Given the description of an element on the screen output the (x, y) to click on. 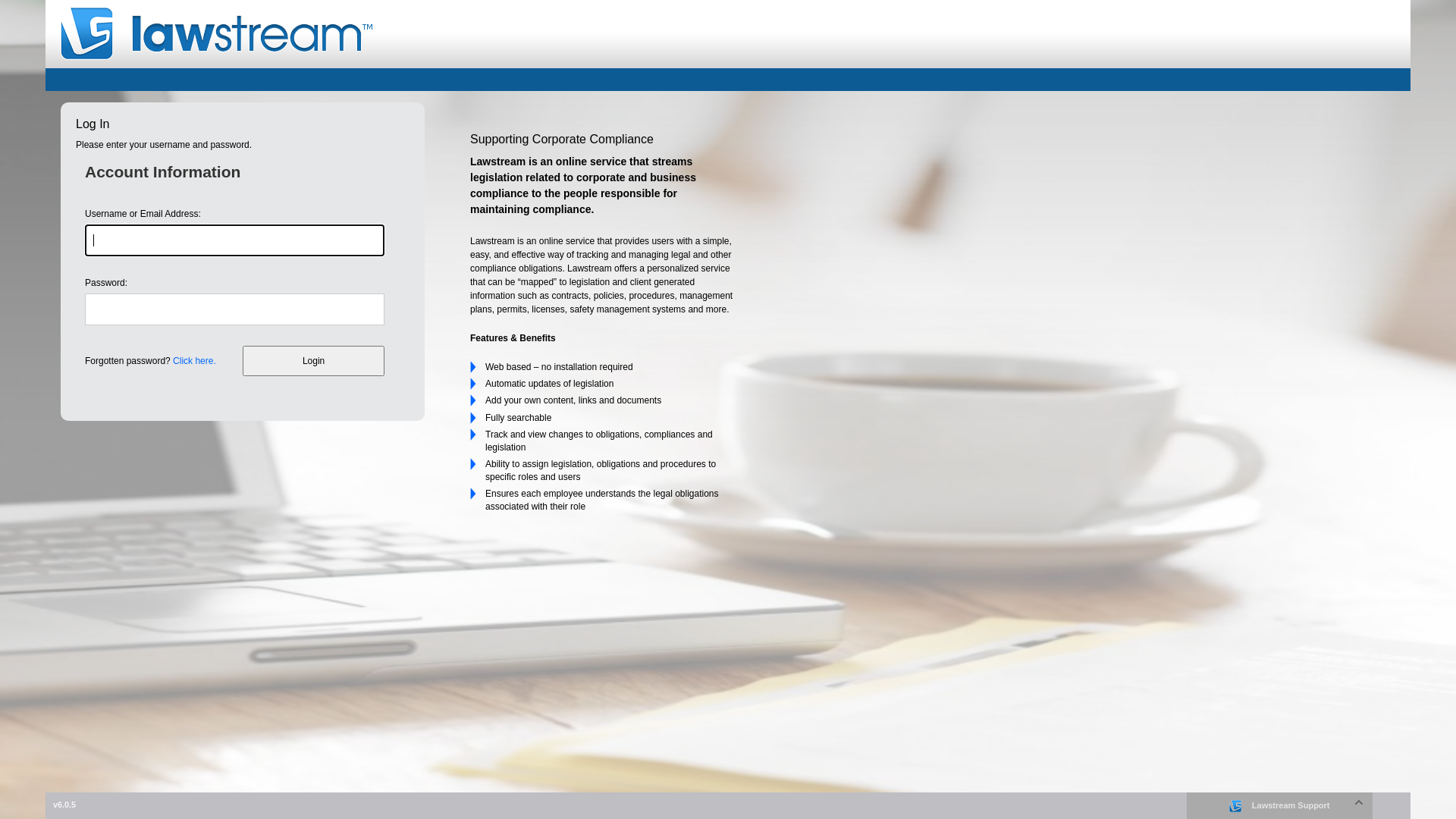
Click here. Element type: text (194, 360)
Login Element type: text (313, 360)
